Given the description of an element on the screen output the (x, y) to click on. 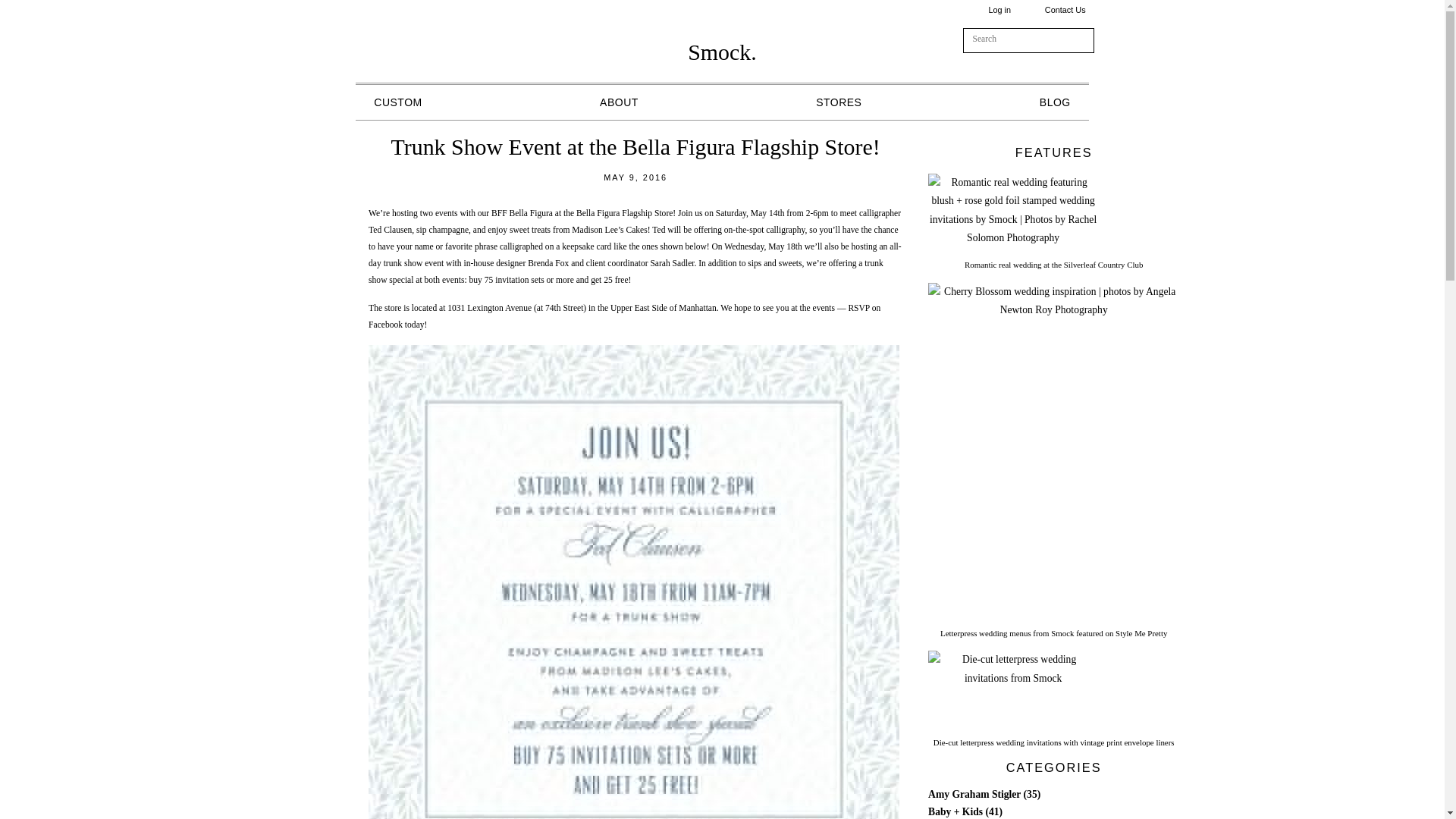
The store (385, 307)
BLOG (1054, 102)
Contact Us (1065, 9)
RSVP on Facebook today (624, 316)
Ted Clausen (390, 230)
CUSTOM (398, 102)
Log in (999, 9)
Bella Figura (531, 213)
Trunk Show Event at the Bella Figura Flagship Store! (635, 146)
ABOUT (619, 102)
STORES (838, 102)
